Given the description of an element on the screen output the (x, y) to click on. 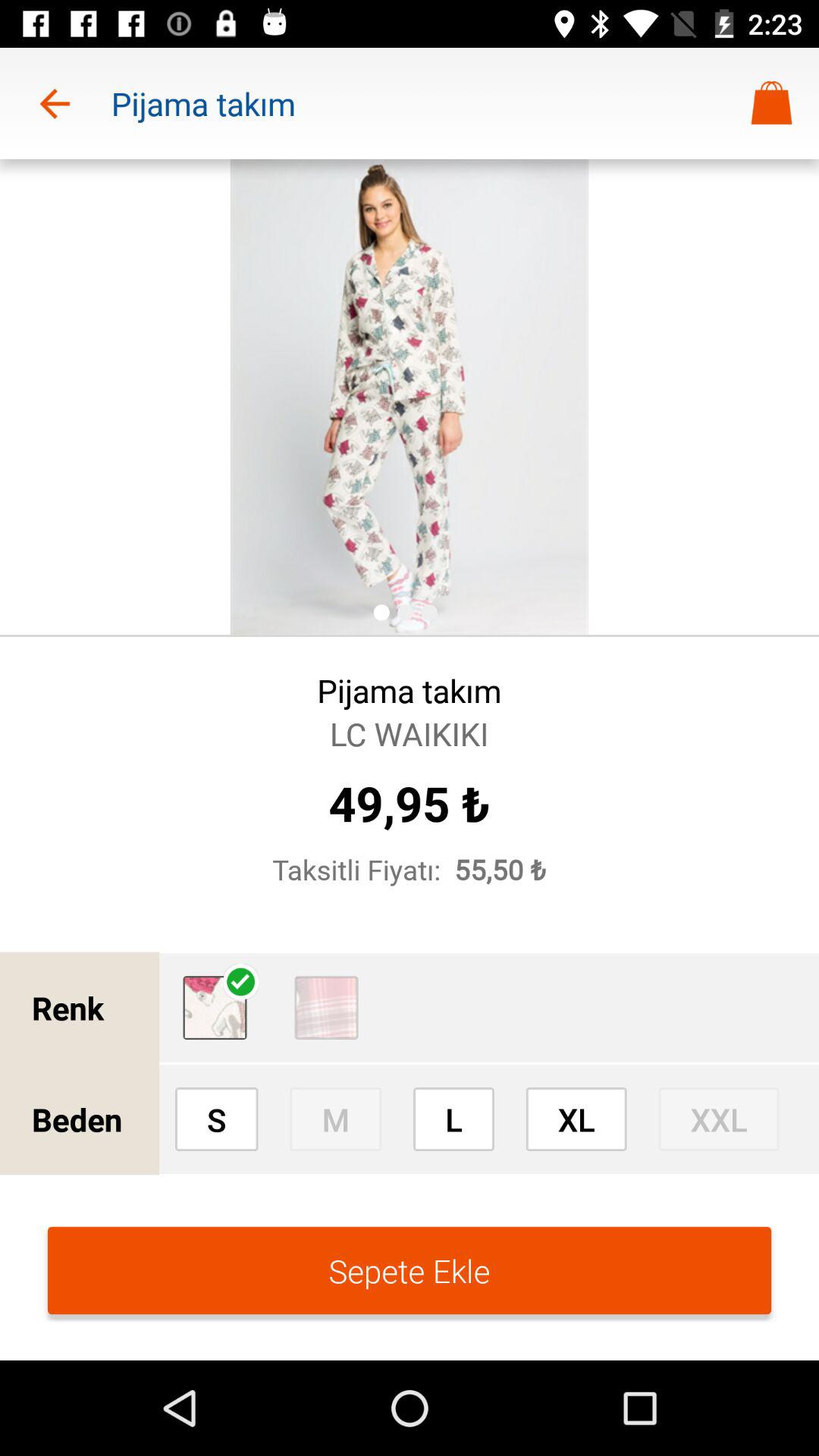
tap item to the right of m item (453, 1119)
